Given the description of an element on the screen output the (x, y) to click on. 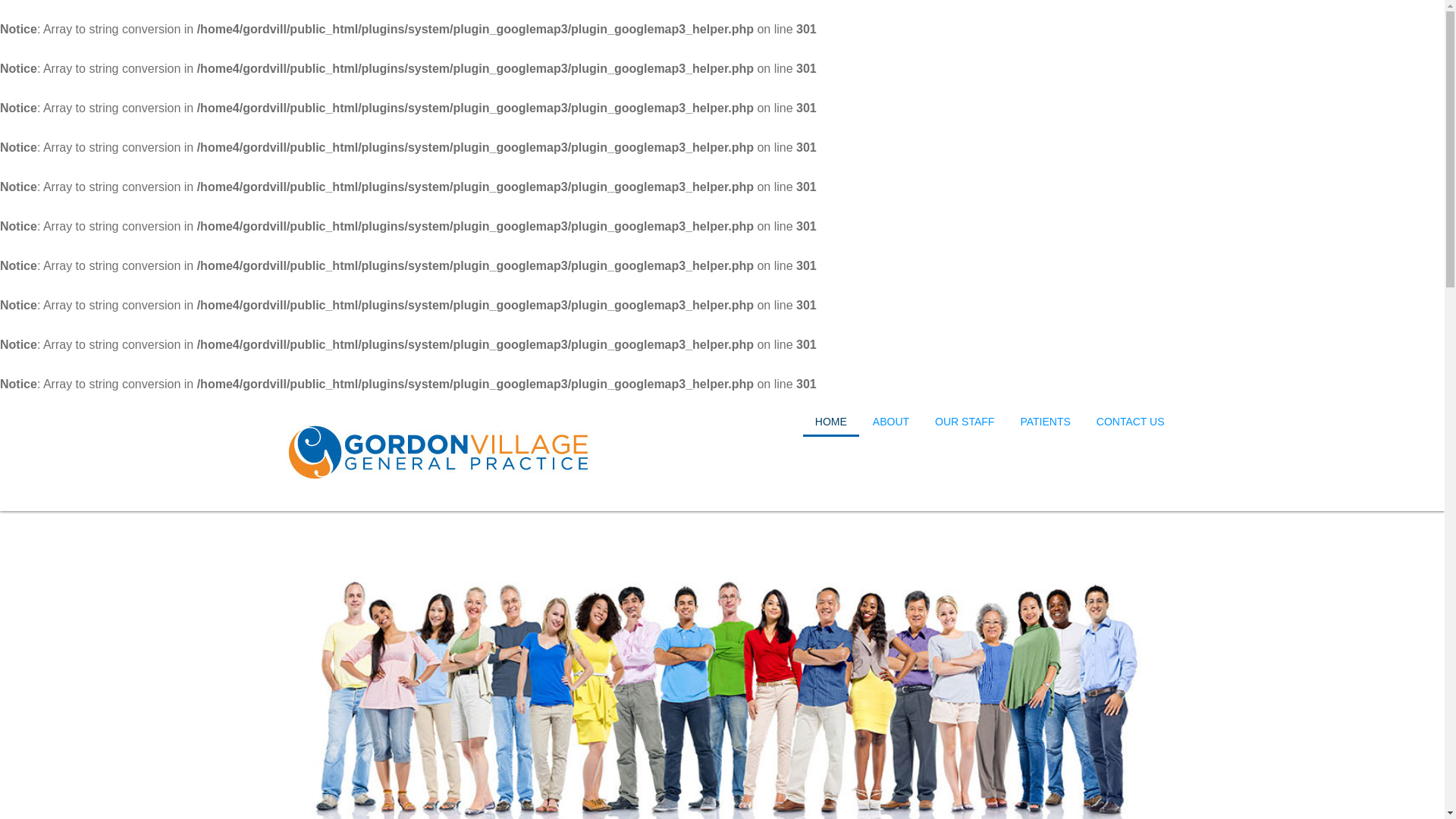
ABOUT Element type: text (890, 421)
CONTACT US Element type: text (1130, 421)
PATIENTS Element type: text (1044, 421)
HOME Element type: text (831, 421)
OUR STAFF Element type: text (964, 421)
